Given the description of an element on the screen output the (x, y) to click on. 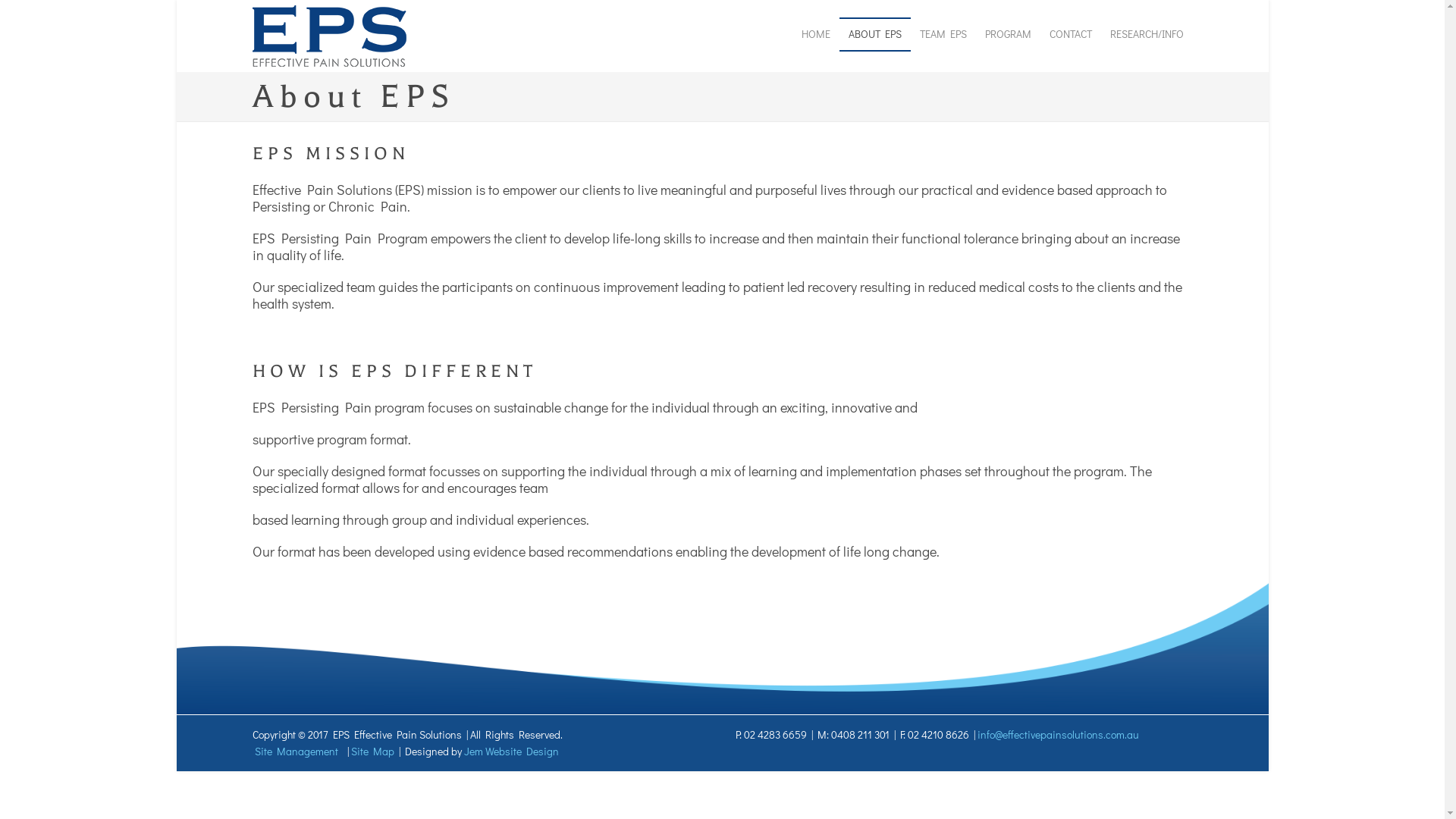
Log in Element type: text (729, 444)
Jem Website Design Element type: text (511, 750)
PROGRAM Element type: text (1007, 34)
RESEARCH/INFO Element type: text (1146, 34)
HOME Element type: text (814, 34)
ABOUT EPS Element type: text (874, 34)
CONTACT Element type: text (1070, 34)
Effective Pain Solutions Element type: hover (328, 34)
info@effectivepainsolutions.com.au Element type: text (1058, 734)
Site Map Element type: text (371, 750)
TEAM EPS Element type: text (942, 34)
Site Management Element type: text (296, 750)
